Given the description of an element on the screen output the (x, y) to click on. 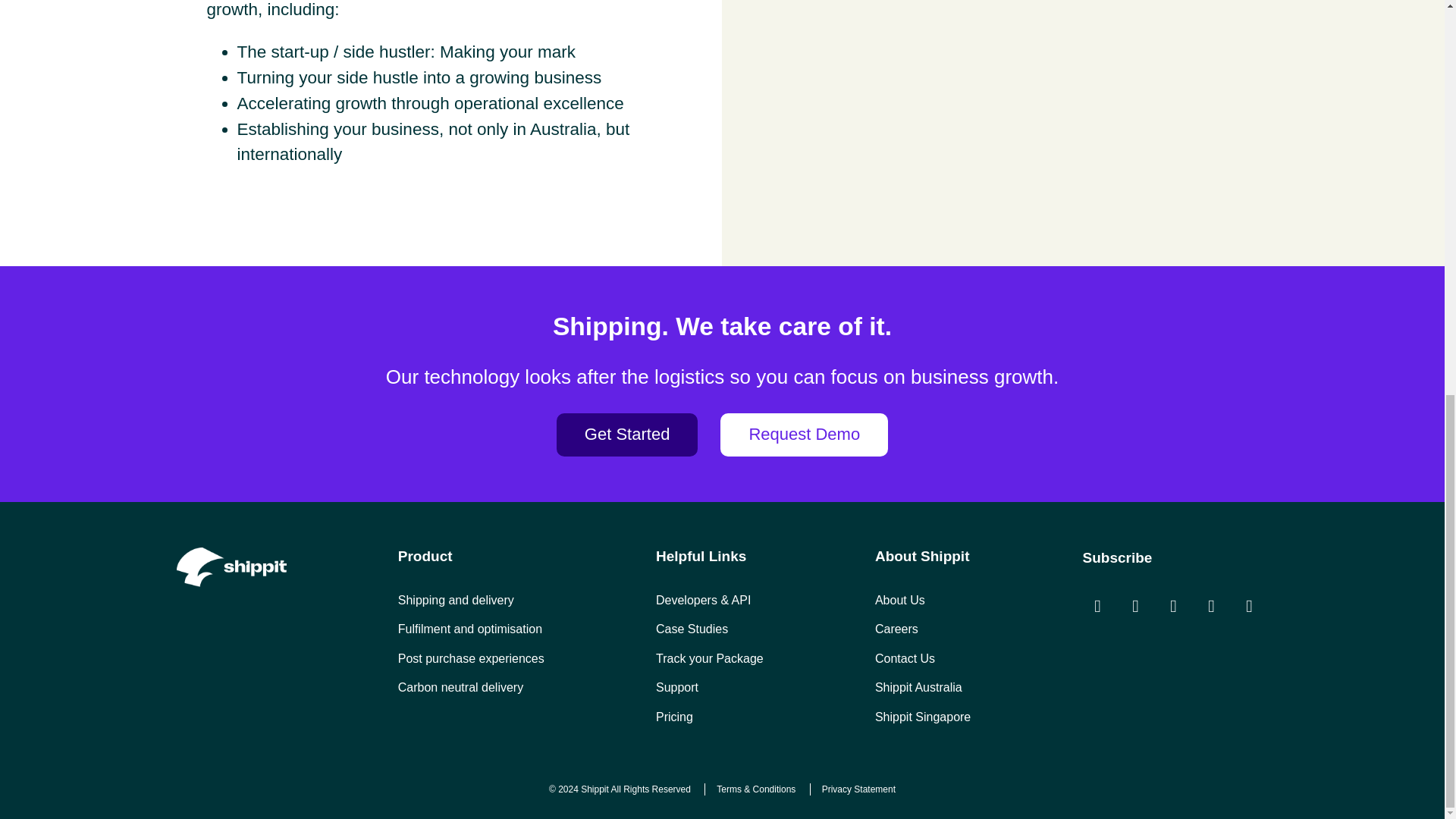
Fulfilment and optimisation (469, 628)
Carbon neutral delivery (459, 686)
Visit us on LinkedIn (1211, 606)
Request Demo (804, 434)
Post purchase experiences (470, 658)
Get Started (627, 434)
Shipping and delivery (455, 599)
Visit us on Twitter (1173, 606)
Visit us on Facebook (1136, 606)
Visit us on Instragram (1098, 606)
